Given the description of an element on the screen output the (x, y) to click on. 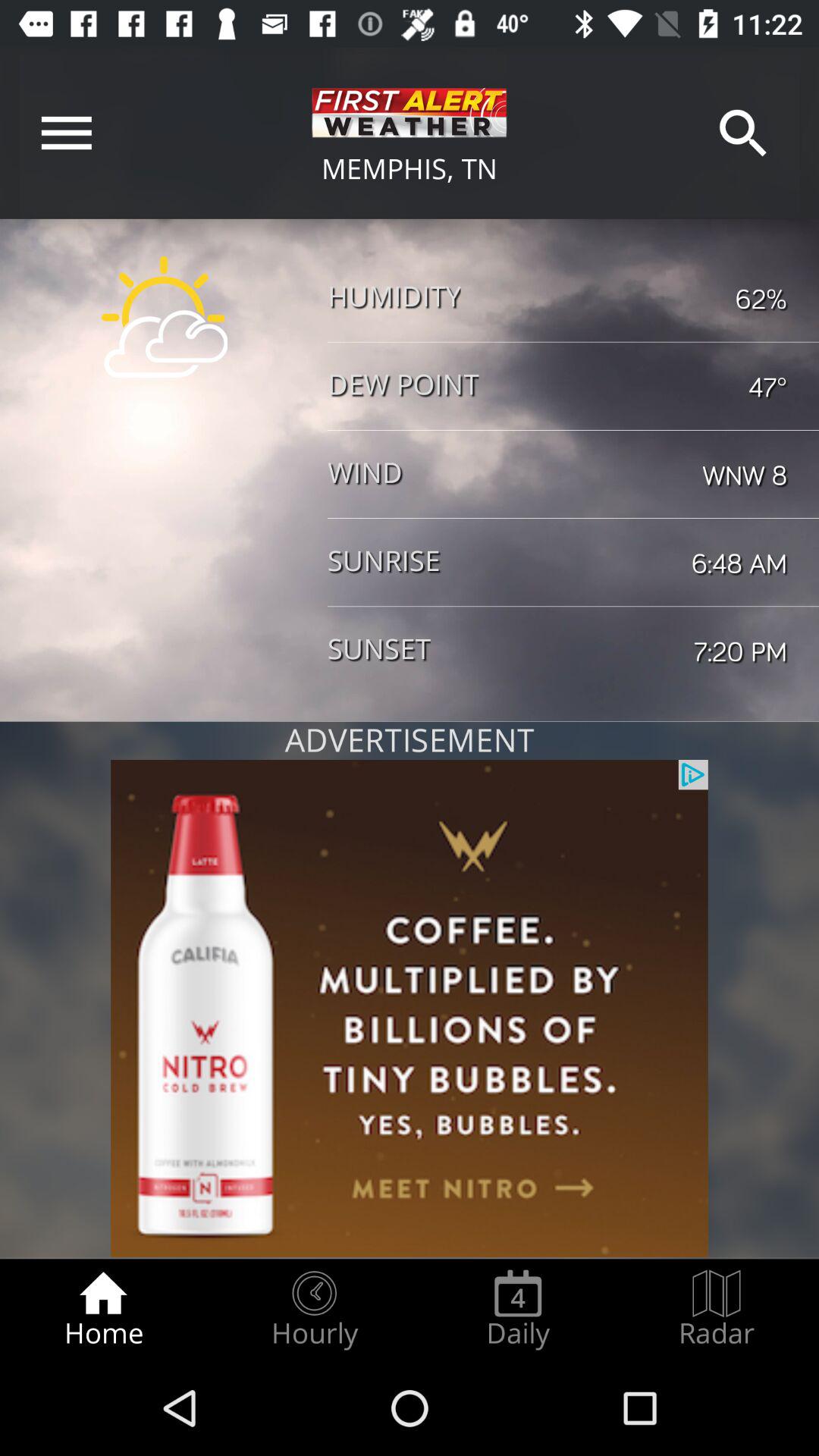
tap icon next to the home radio button (314, 1309)
